Given the description of an element on the screen output the (x, y) to click on. 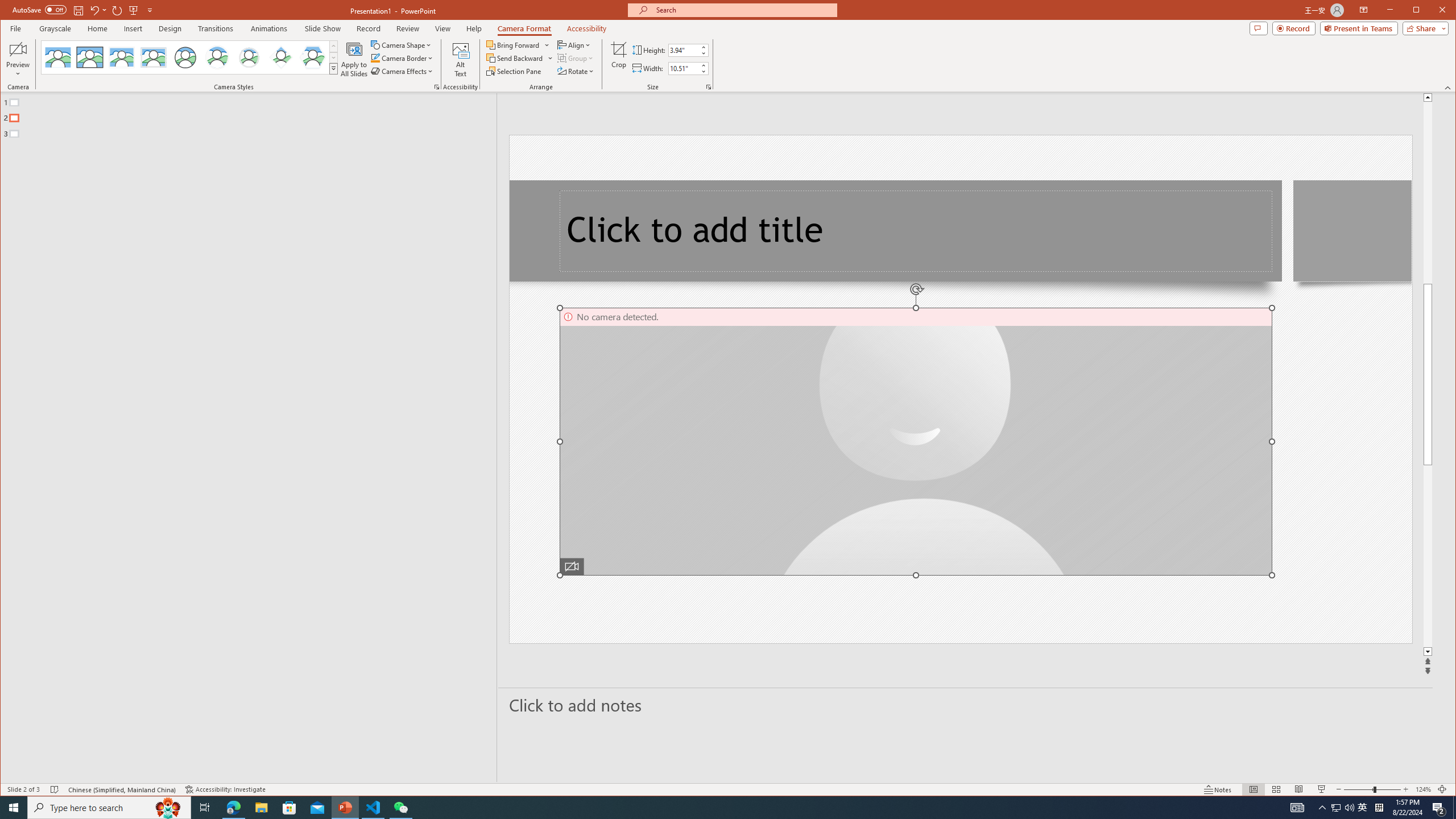
Class: MsoCommandBar (1335, 807)
Center Shadow Circle (728, 789)
Collapse the Ribbon (216, 57)
Rotate (1448, 87)
Cameo Width (577, 70)
Normal (683, 68)
Show desktop (1253, 789)
From Beginning (1454, 807)
Title TextBox (133, 9)
Microsoft Edge - 1 running window (915, 230)
Accessibility (233, 807)
Microsoft Store (1362, 807)
